Given the description of an element on the screen output the (x, y) to click on. 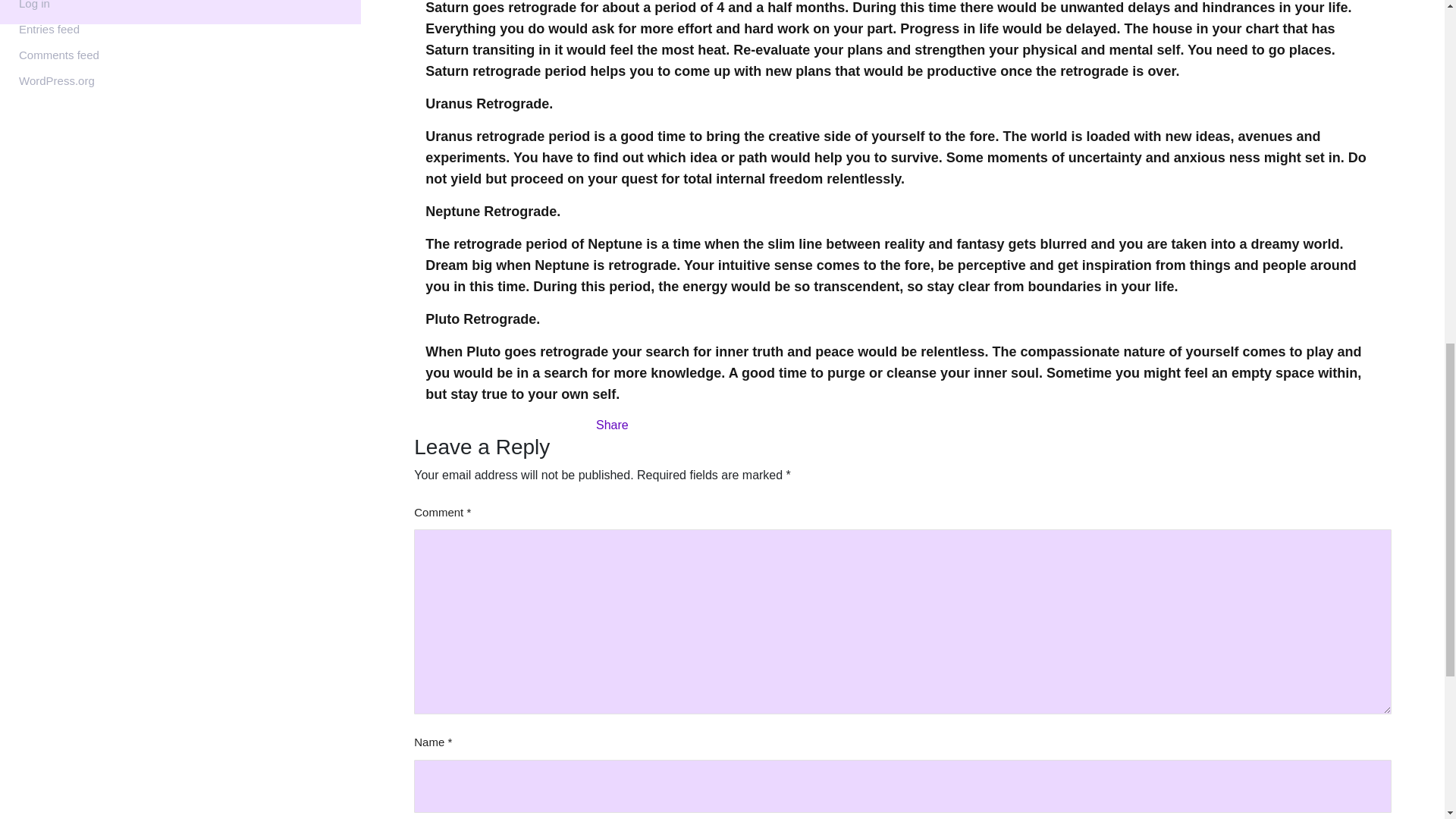
Entries feed (49, 29)
Comments feed (58, 54)
Log in (33, 4)
Share (611, 424)
WordPress.org (56, 80)
